Given the description of an element on the screen output the (x, y) to click on. 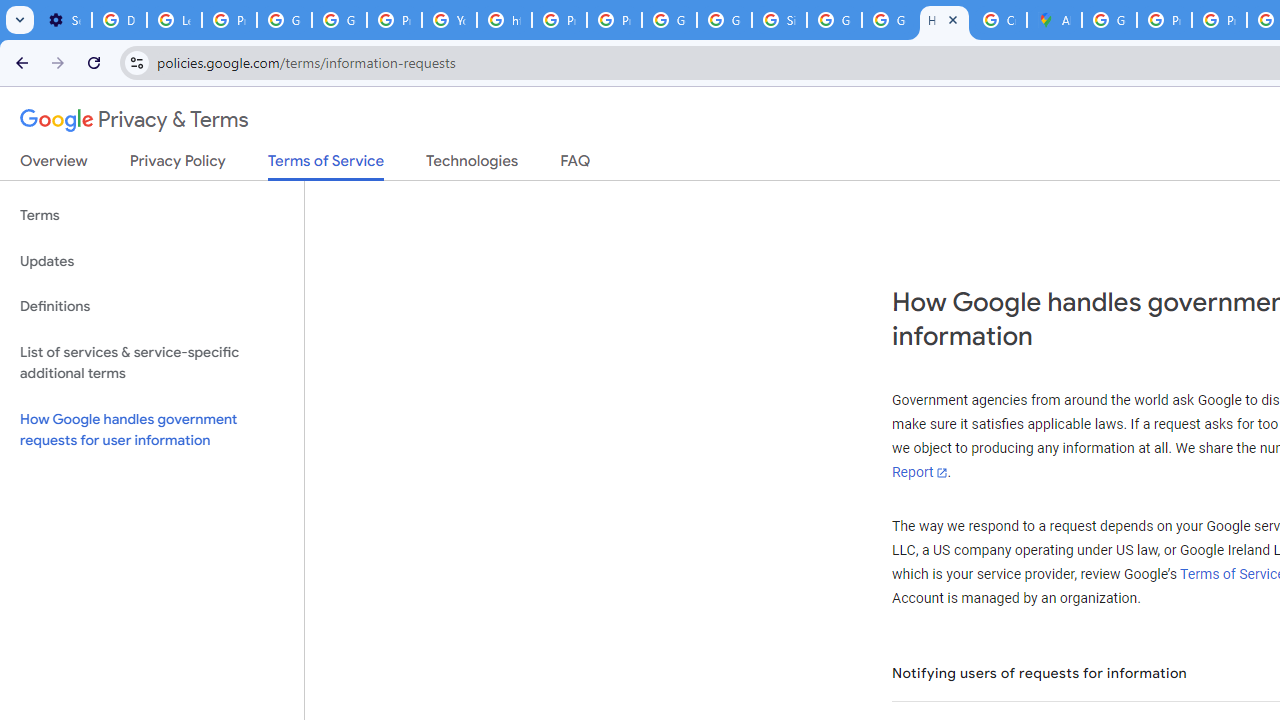
Settings - On startup (64, 20)
Privacy Help Center - Policies Help (559, 20)
Google Account Help (339, 20)
YouTube (449, 20)
Definitions (152, 306)
Updates (152, 261)
Create your Google Account (998, 20)
